Given the description of an element on the screen output the (x, y) to click on. 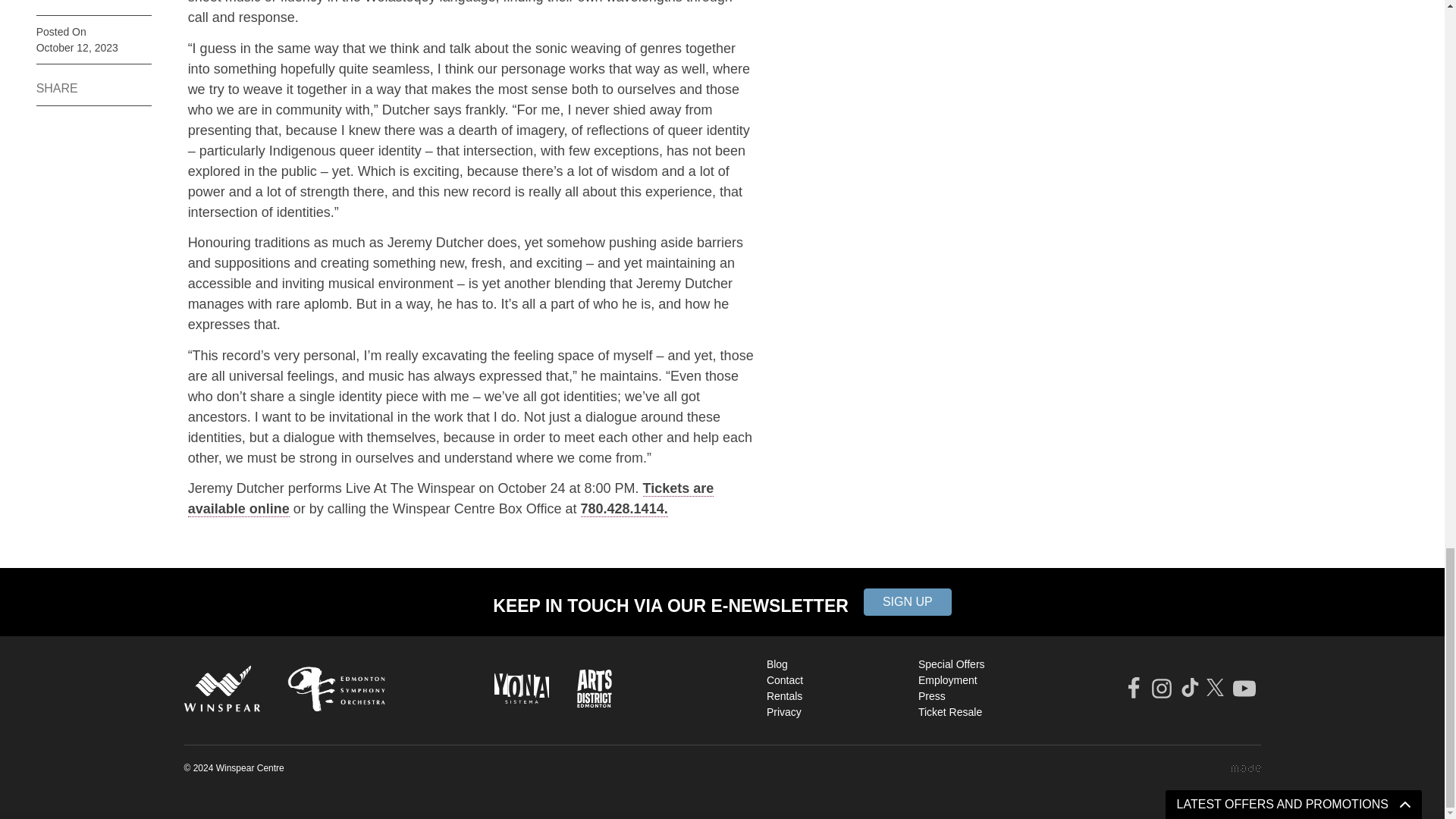
Blog (834, 664)
780.428.1414. (624, 508)
Tickets are available online (450, 498)
Sign Up (907, 601)
Sign Up (907, 601)
